Given the description of an element on the screen output the (x, y) to click on. 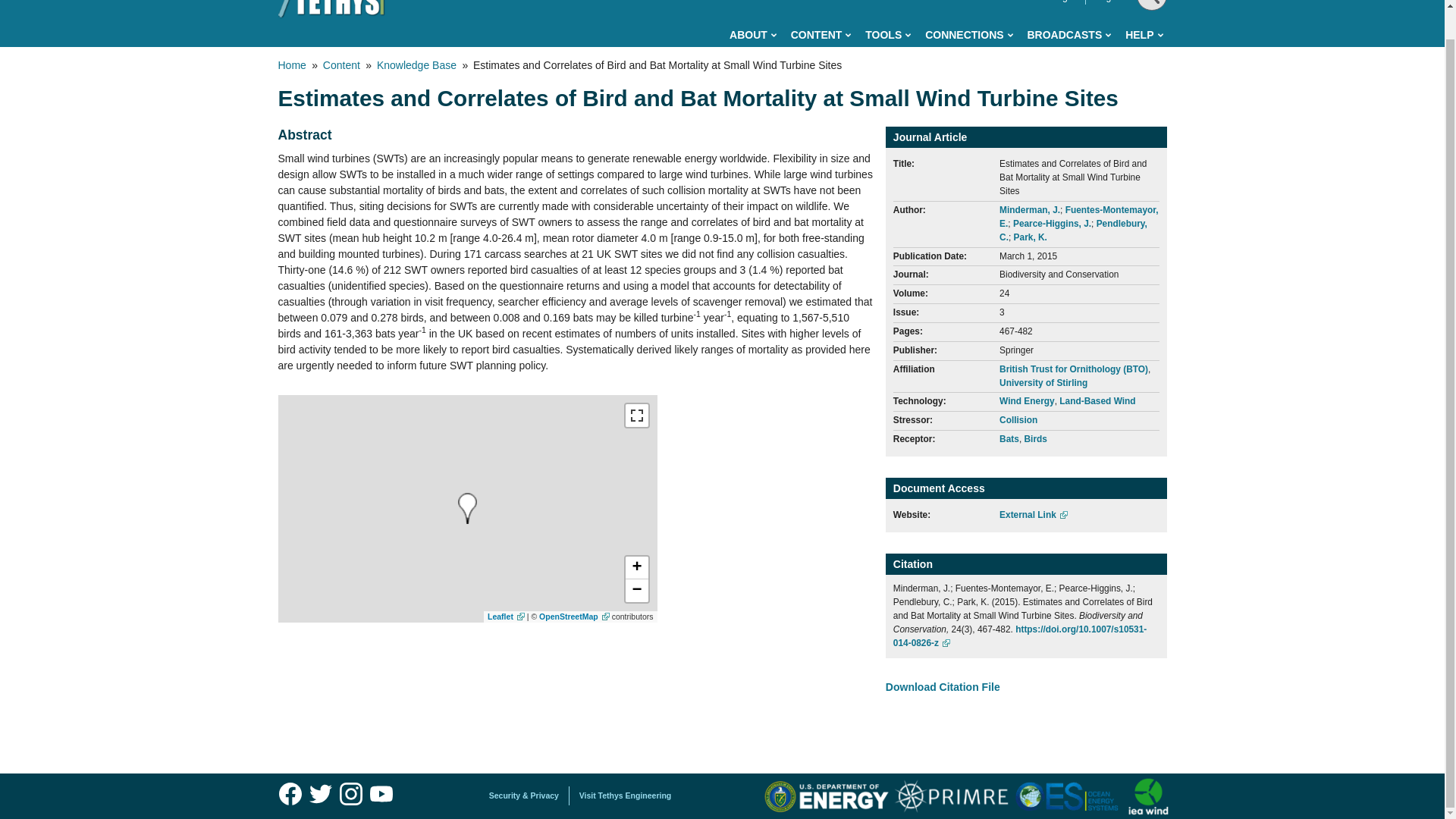
Facebook logo (290, 793)
Twitter logo (319, 793)
YouTube logo (381, 793)
Zoom out (635, 590)
View Fullscreen (635, 415)
Home (339, 9)
Search (1148, 33)
Zoom in (635, 567)
Instagram logo (350, 793)
A JavaScript library for interactive maps (505, 615)
